Given the description of an element on the screen output the (x, y) to click on. 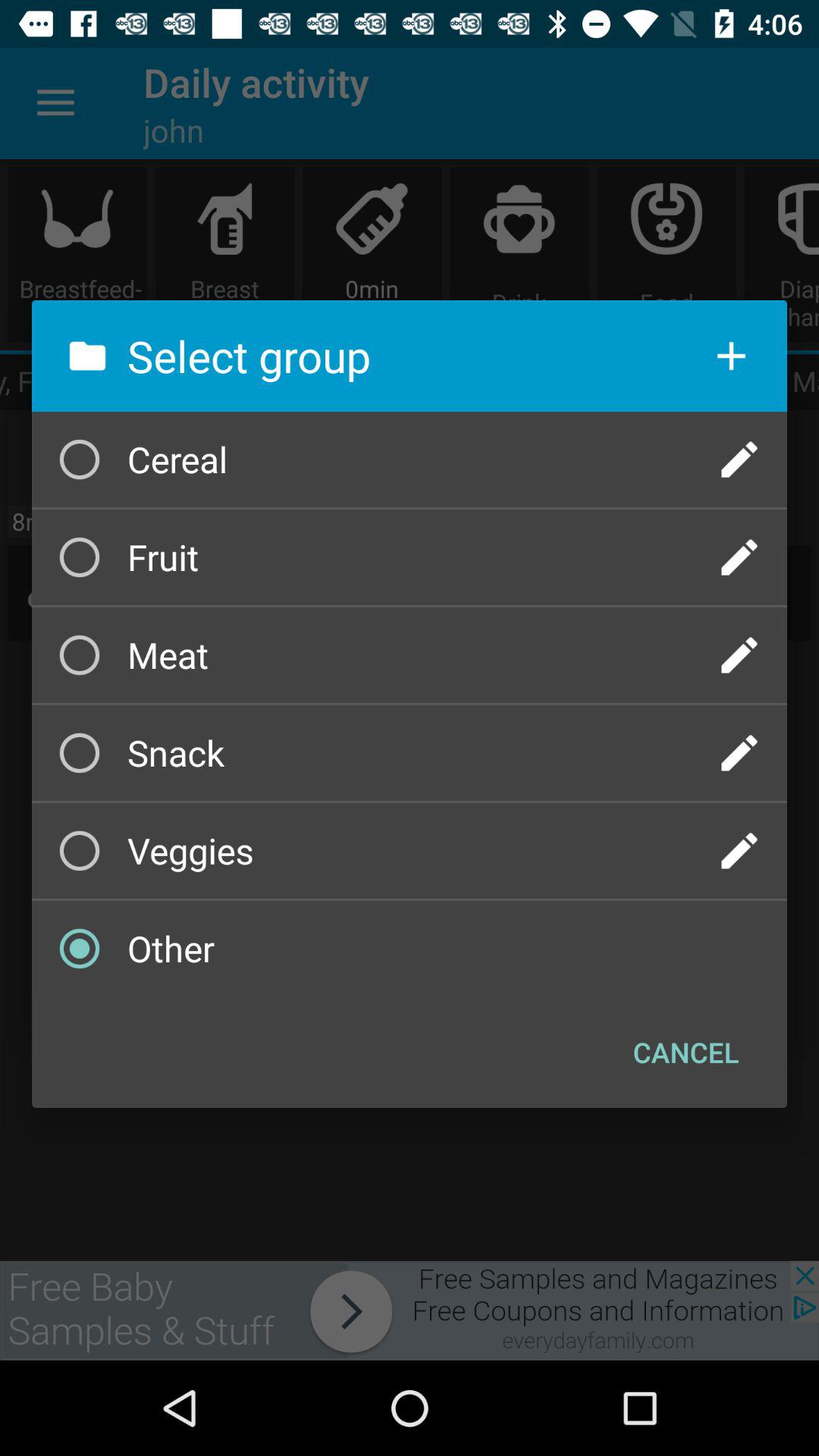
edit veggies activity (739, 850)
